Given the description of an element on the screen output the (x, y) to click on. 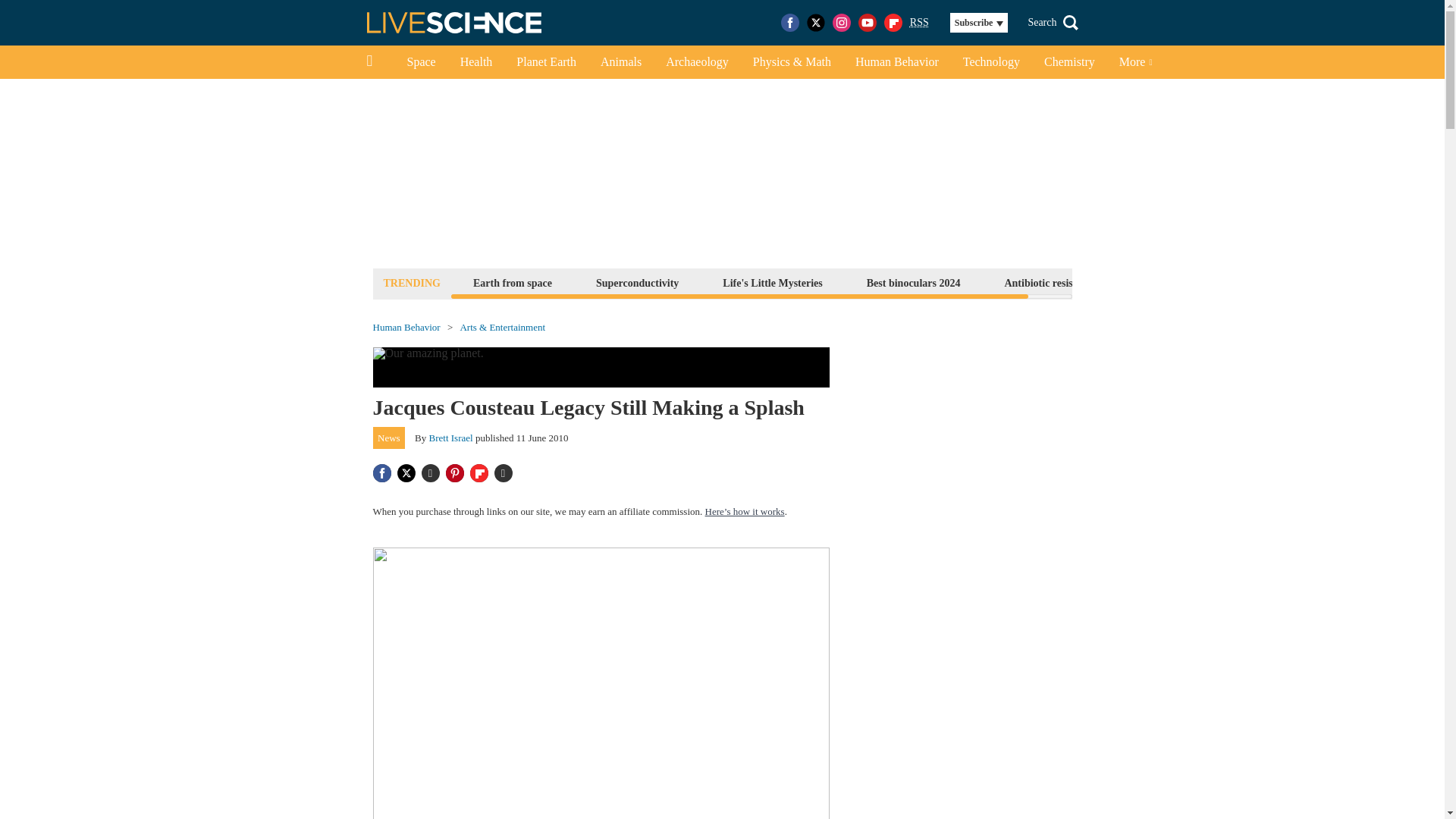
Space (420, 61)
Health (476, 61)
Antibiotic resistance (1050, 282)
News (389, 437)
Superconductivity (637, 282)
Planet Earth (545, 61)
RSS (919, 22)
Earth from space (512, 282)
Human Behavior (406, 327)
Archaeology (697, 61)
